Given the description of an element on the screen output the (x, y) to click on. 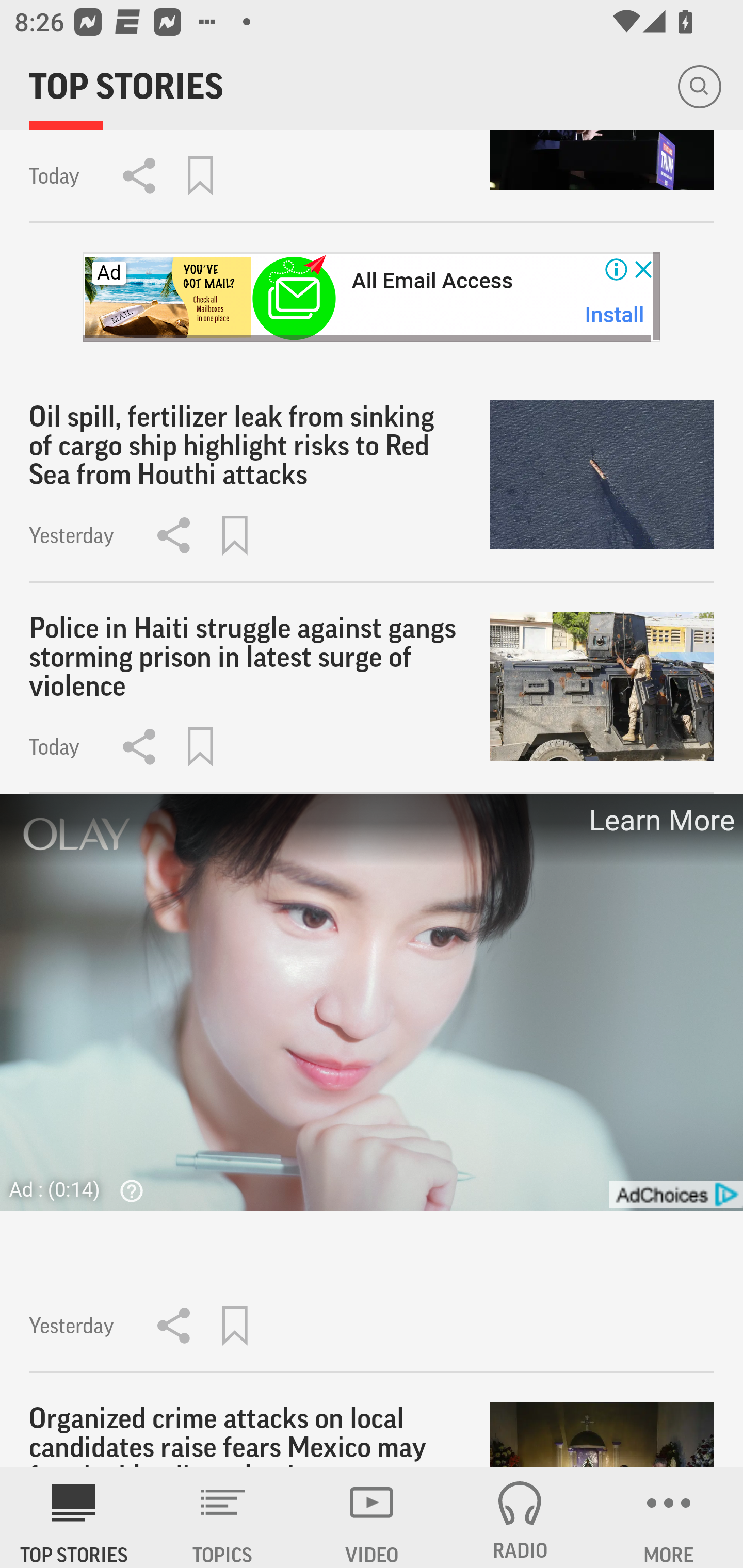
All Email Access (431, 280)
Install (614, 314)
Learn More (660, 820)
Ad : (0:14) Why This Ad? (82, 1189)
Why This Ad? (126, 1190)
get?name=admarker-full-tl (675, 1194)
AP News TOP STORIES (74, 1517)
TOPICS (222, 1517)
VIDEO (371, 1517)
RADIO (519, 1517)
MORE (668, 1517)
